Given the description of an element on the screen output the (x, y) to click on. 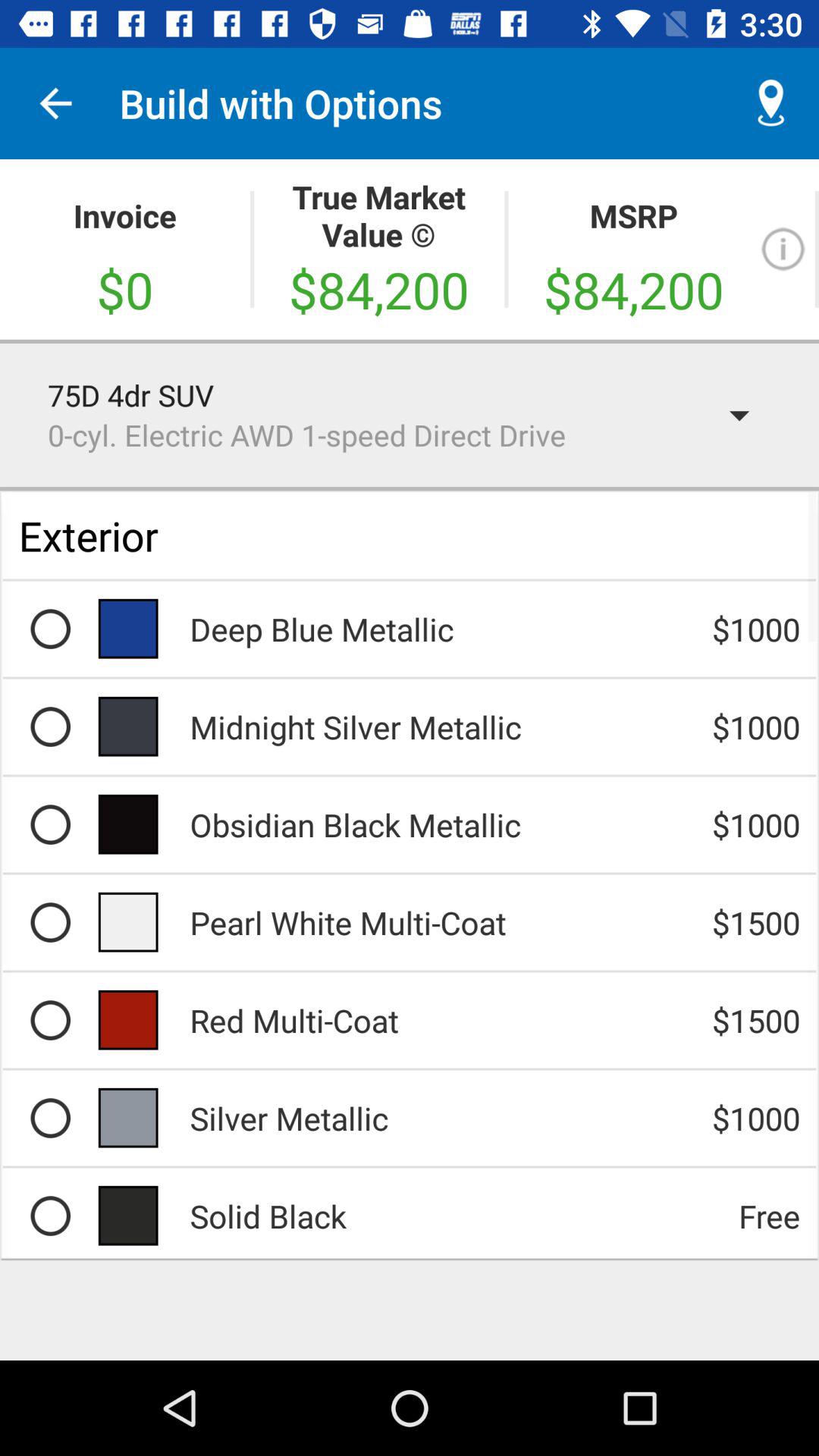
show information (783, 249)
